Given the description of an element on the screen output the (x, y) to click on. 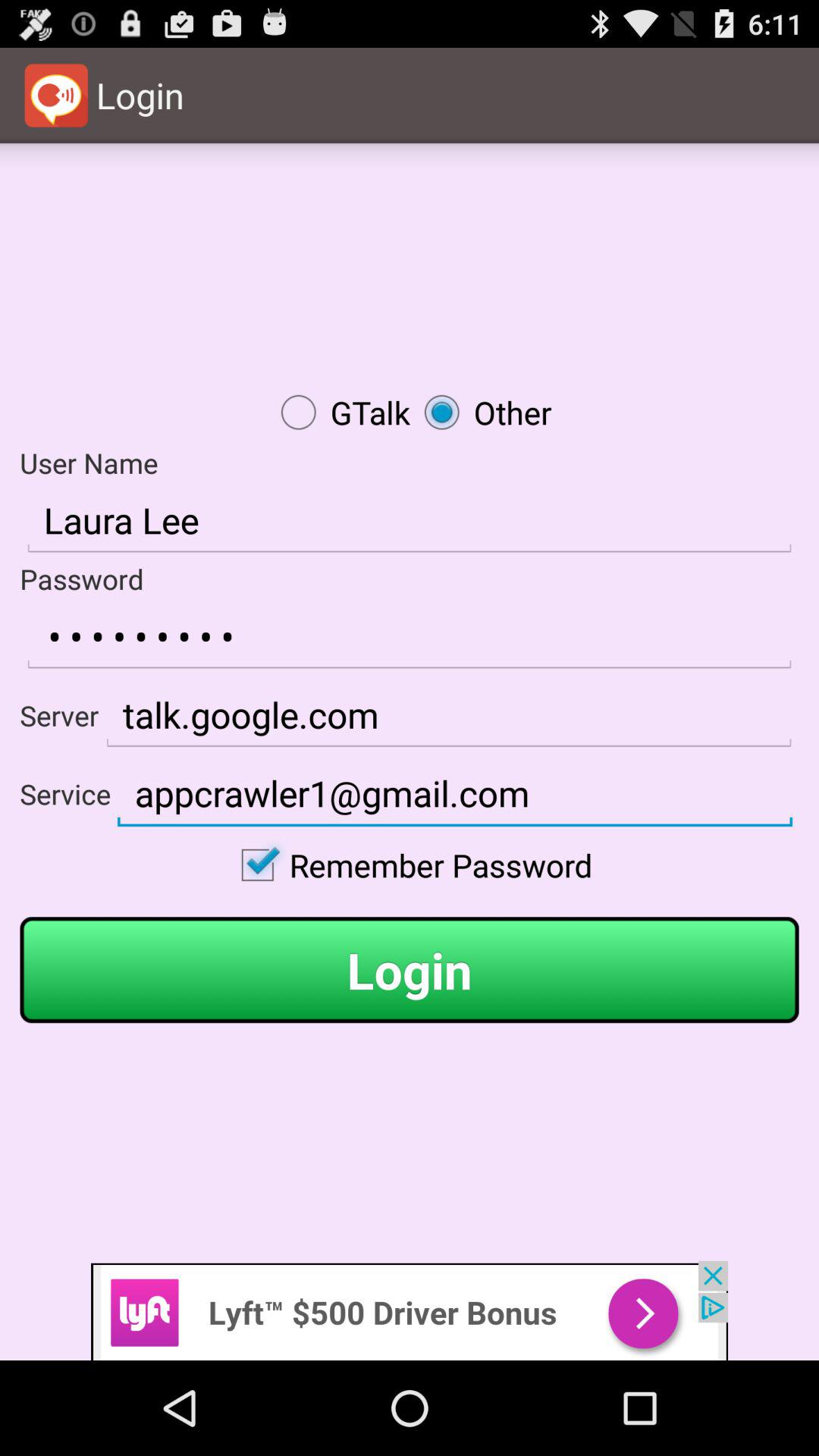
advertisement (409, 1310)
